Given the description of an element on the screen output the (x, y) to click on. 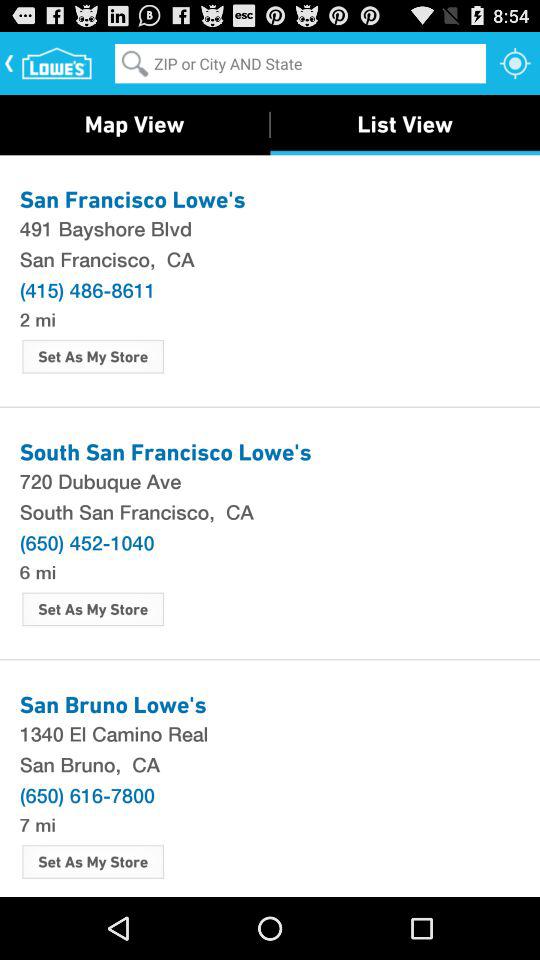
turn on the map view (134, 124)
